Given the description of an element on the screen output the (x, y) to click on. 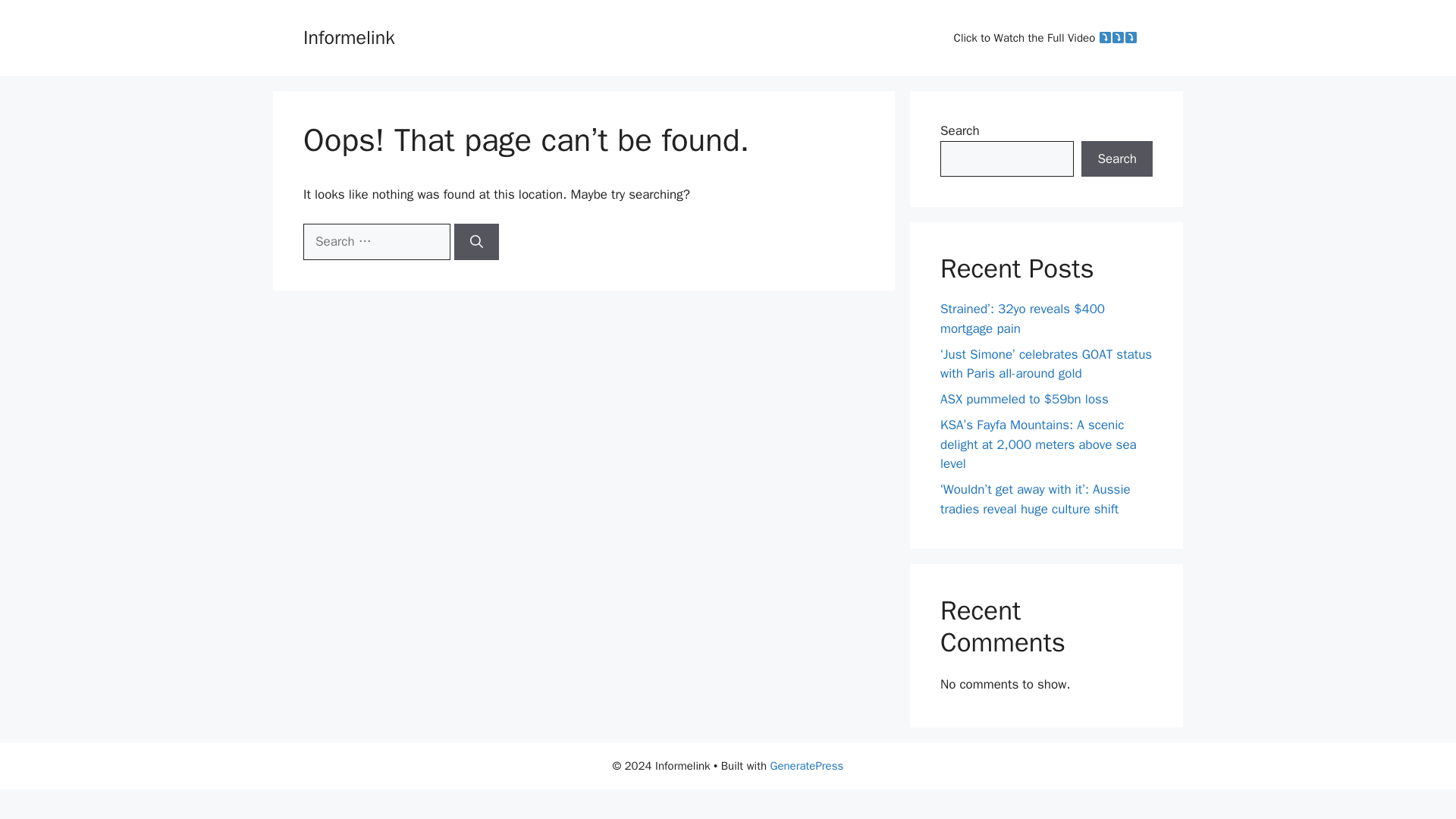
Search (1117, 158)
GeneratePress (807, 766)
Search for: (375, 241)
Click to Watch the Full Video (1046, 37)
Informelink (348, 37)
